Given the description of an element on the screen output the (x, y) to click on. 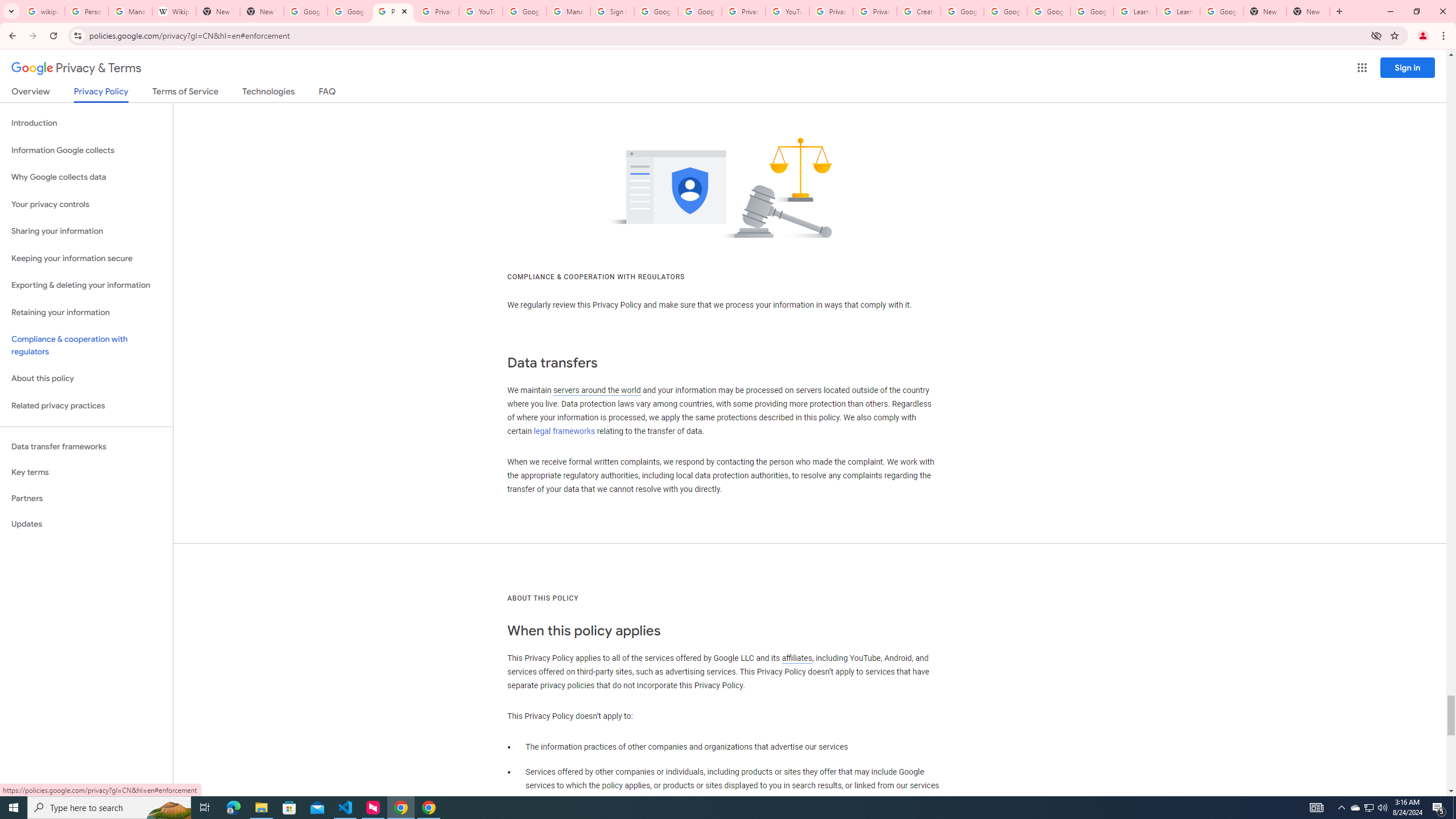
FAQ (327, 93)
Google Account Help (1005, 11)
Technologies (268, 93)
Google Account Help (962, 11)
Google Drive: Sign-in (349, 11)
Compliance & cooperation with regulators (86, 345)
